Given the description of an element on the screen output the (x, y) to click on. 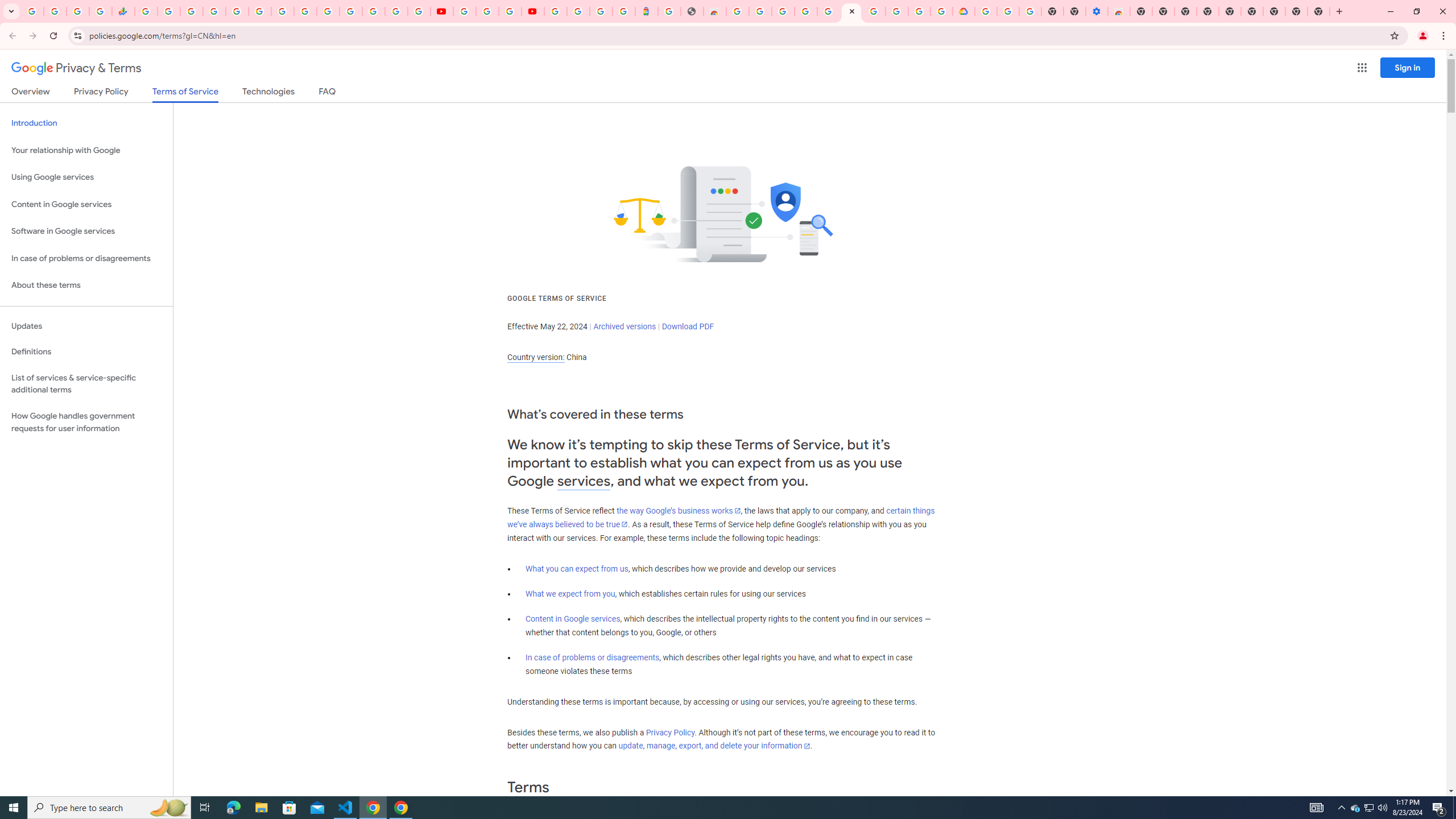
Sign in - Google Accounts (828, 11)
